Given the description of an element on the screen output the (x, y) to click on. 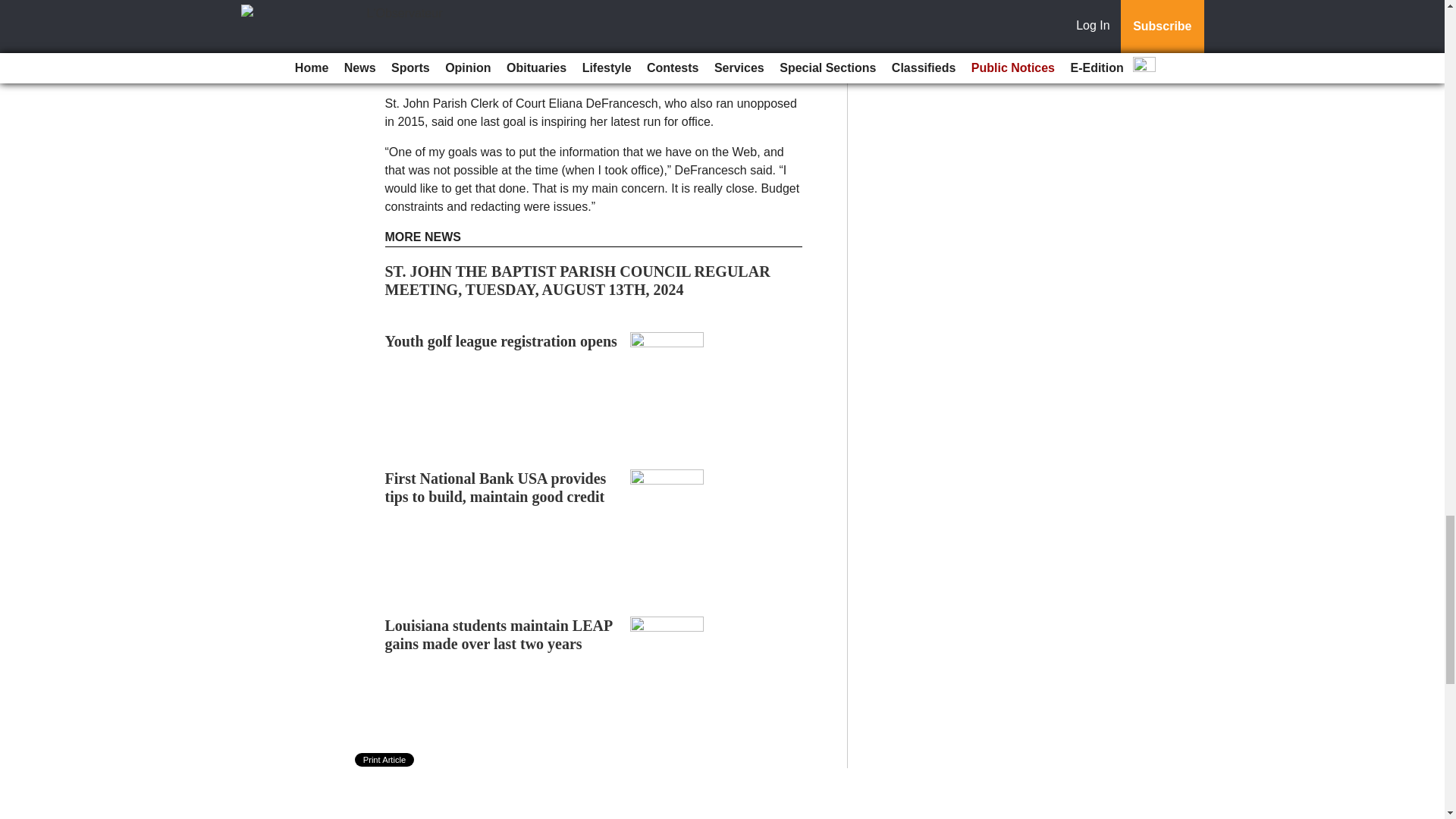
Youth golf league registration opens (501, 340)
Youth golf league registration opens (501, 340)
Print Article (384, 759)
